Given the description of an element on the screen output the (x, y) to click on. 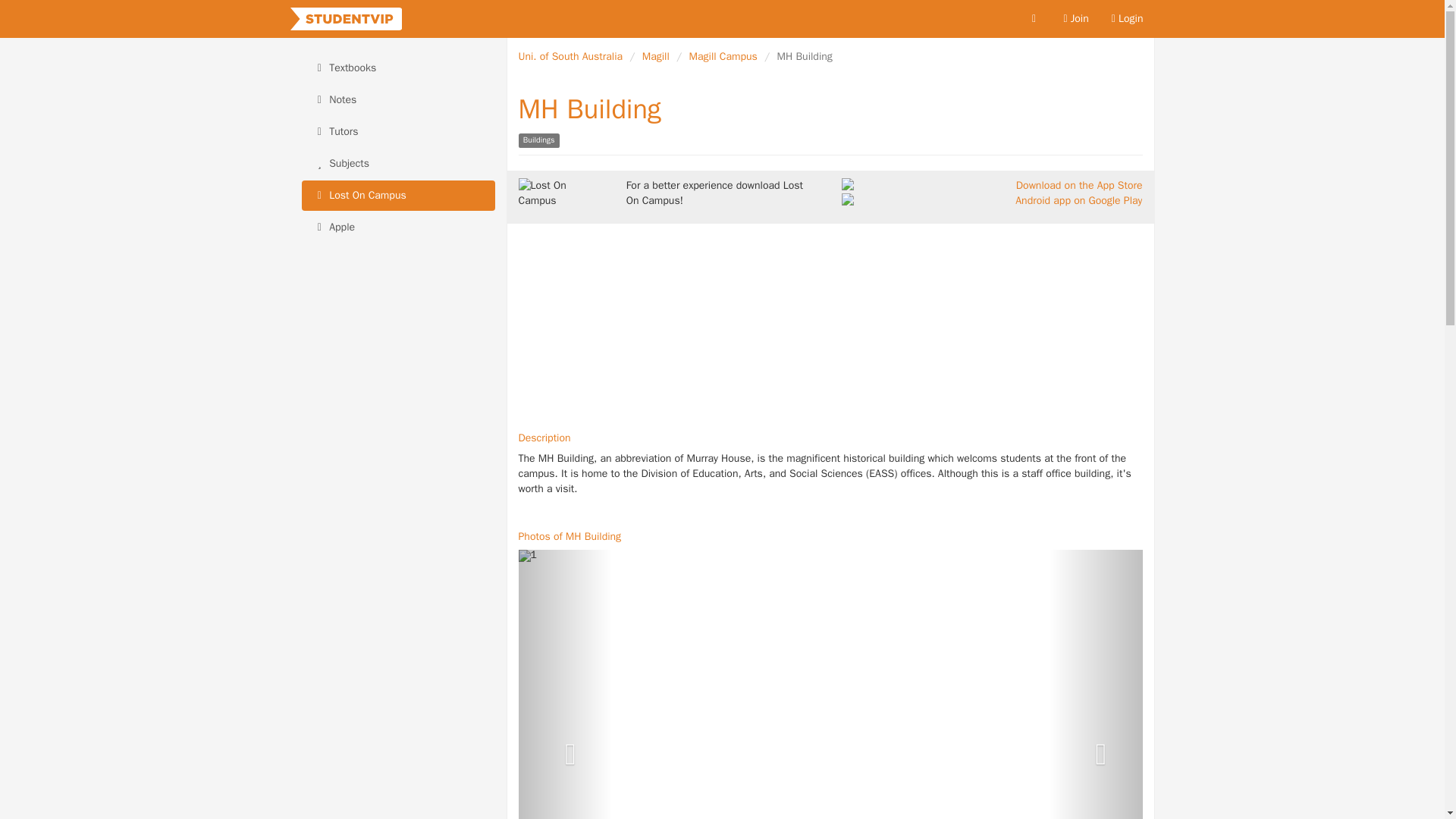
Magill Campus (722, 56)
Buildings (538, 140)
Magill (655, 56)
Login (1127, 18)
Join (1075, 18)
Uni. of South Australia (570, 56)
